Given the description of an element on the screen output the (x, y) to click on. 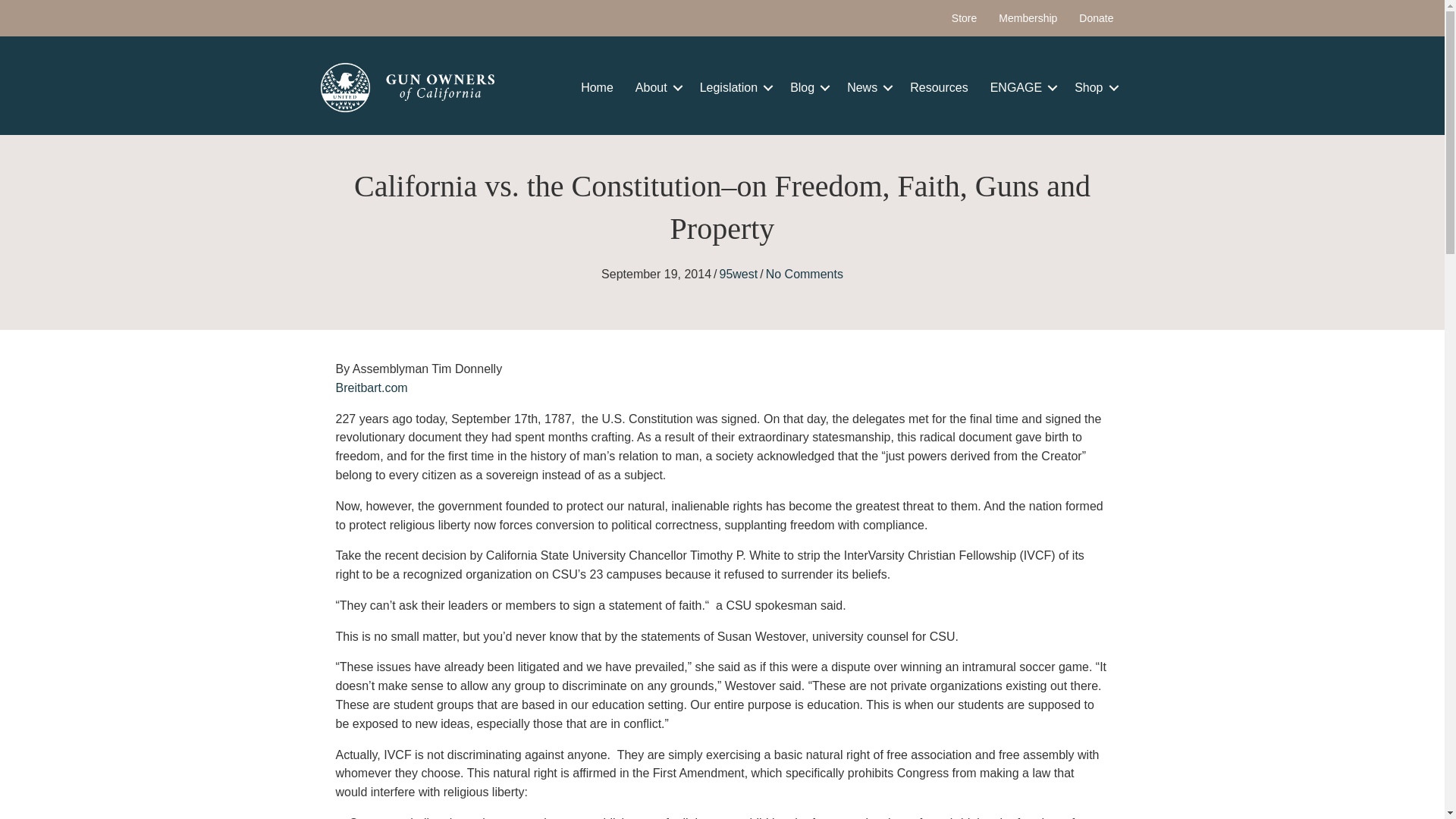
Membership (1027, 18)
News (866, 87)
About (656, 87)
Home (597, 87)
Donate (1096, 18)
Legislation (733, 87)
Resources (938, 87)
ENGAGE (1020, 87)
Blog (806, 87)
Store (963, 18)
logo (407, 87)
